Given the description of an element on the screen output the (x, y) to click on. 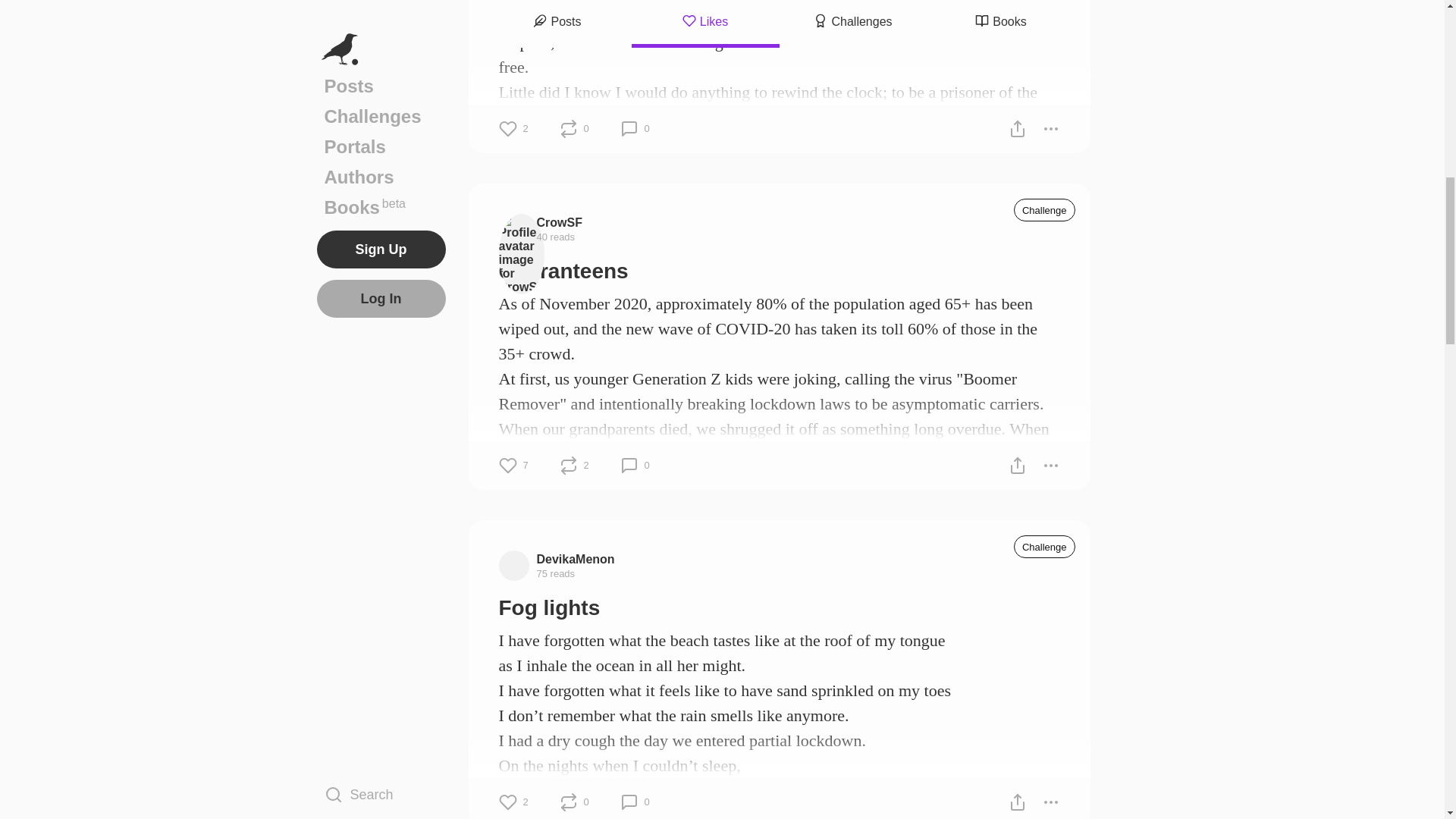
Challenge (1044, 210)
CrowSF (559, 221)
Challenge (1044, 546)
